Given the description of an element on the screen output the (x, y) to click on. 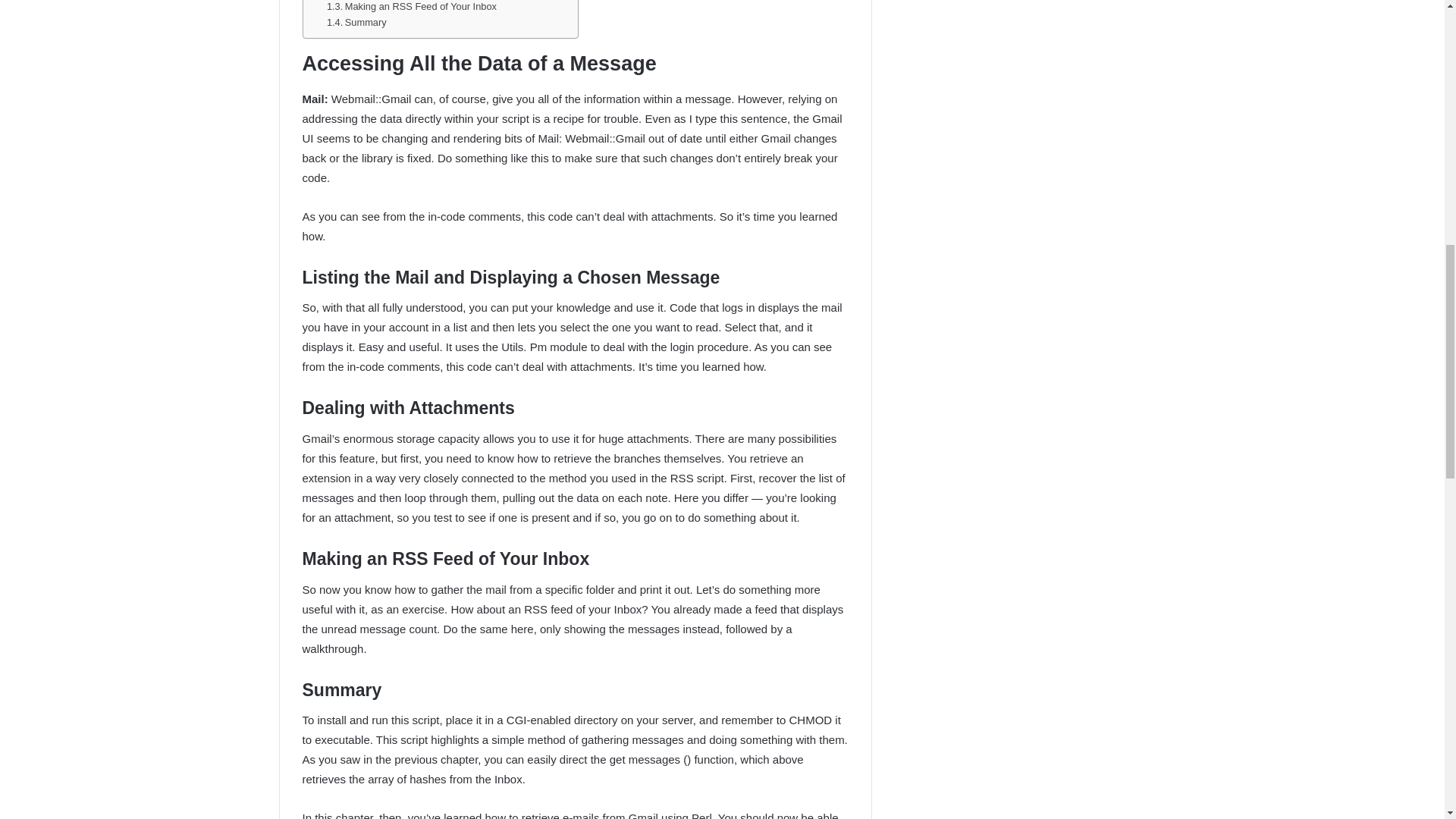
Summary (356, 23)
Summary (356, 23)
Making an RSS Feed of Your Inbox (411, 7)
Making an RSS Feed of Your Inbox (411, 7)
